Given the description of an element on the screen output the (x, y) to click on. 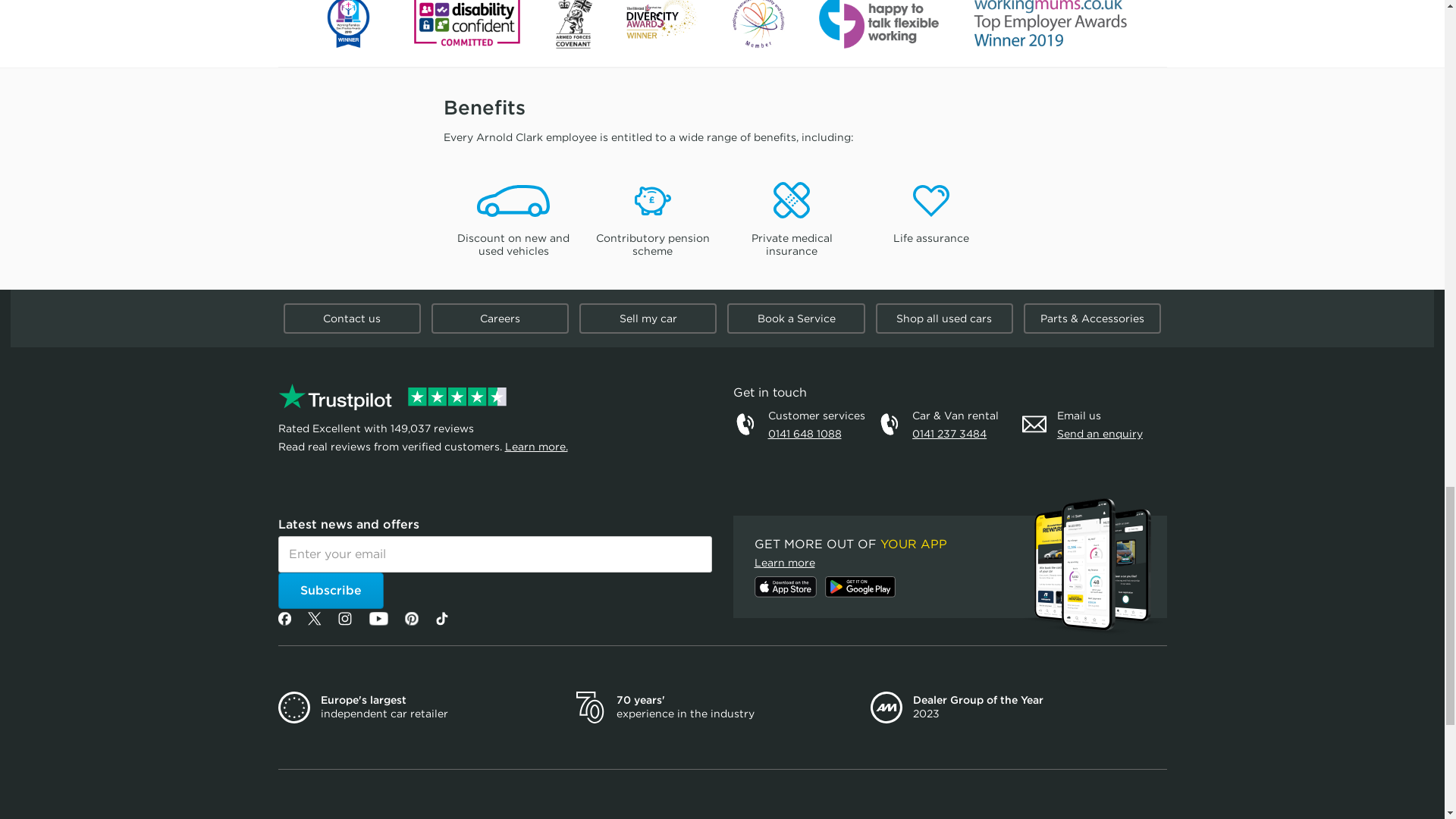
piggy-bank icon (652, 199)
heart icon (930, 199)
health-check icon (791, 199)
car icon (513, 200)
car icon (513, 199)
health-check icon (791, 199)
piggy-bank icon (652, 199)
